Given the description of an element on the screen output the (x, y) to click on. 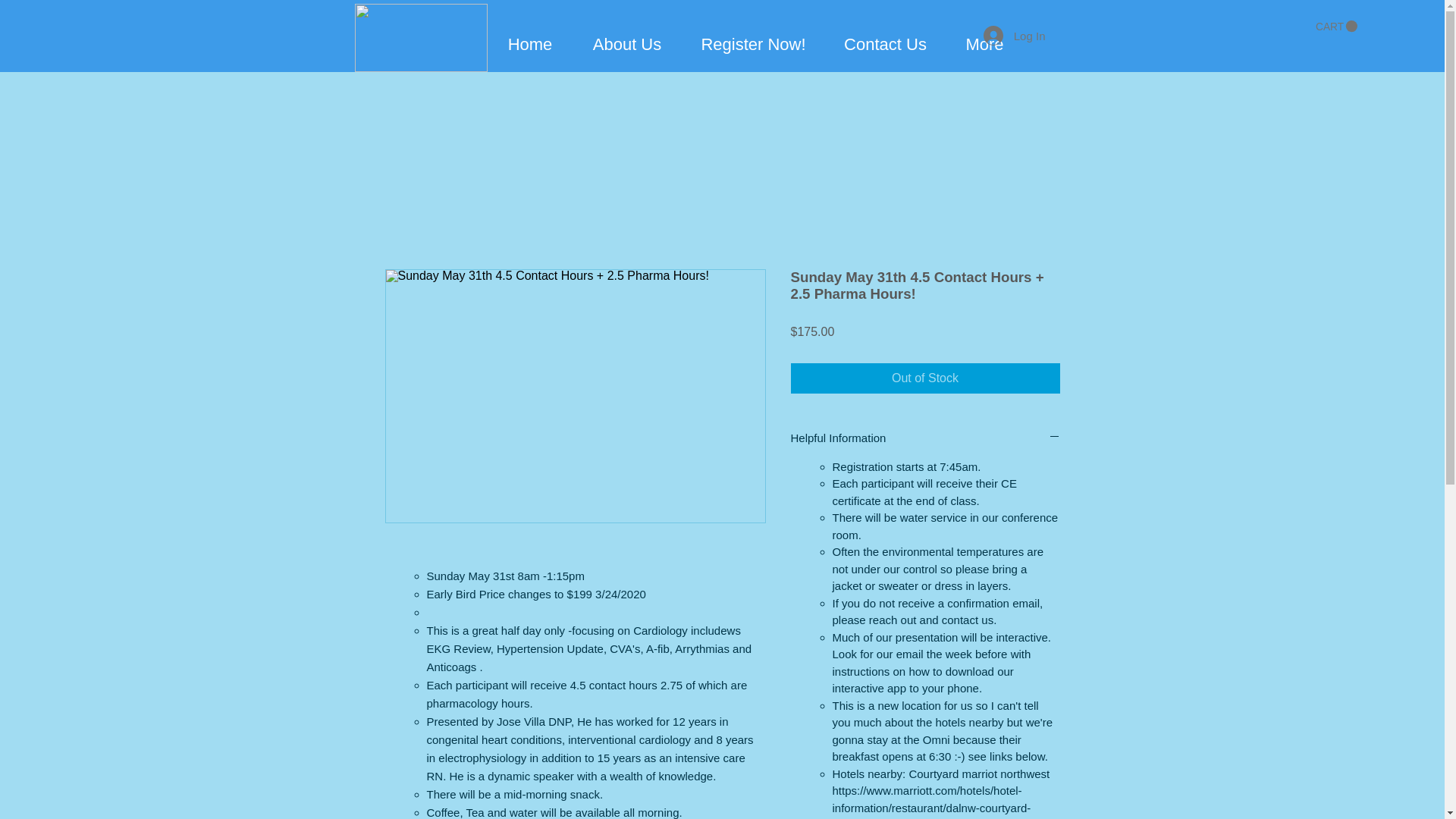
Register Now! (919, 26)
CART (1336, 26)
Register Now! (753, 44)
Log In (1014, 35)
About Us (627, 44)
Home (529, 44)
CART (1336, 26)
Contact Us (884, 44)
Helpful Information (924, 437)
Out of Stock (924, 378)
